Given the description of an element on the screen output the (x, y) to click on. 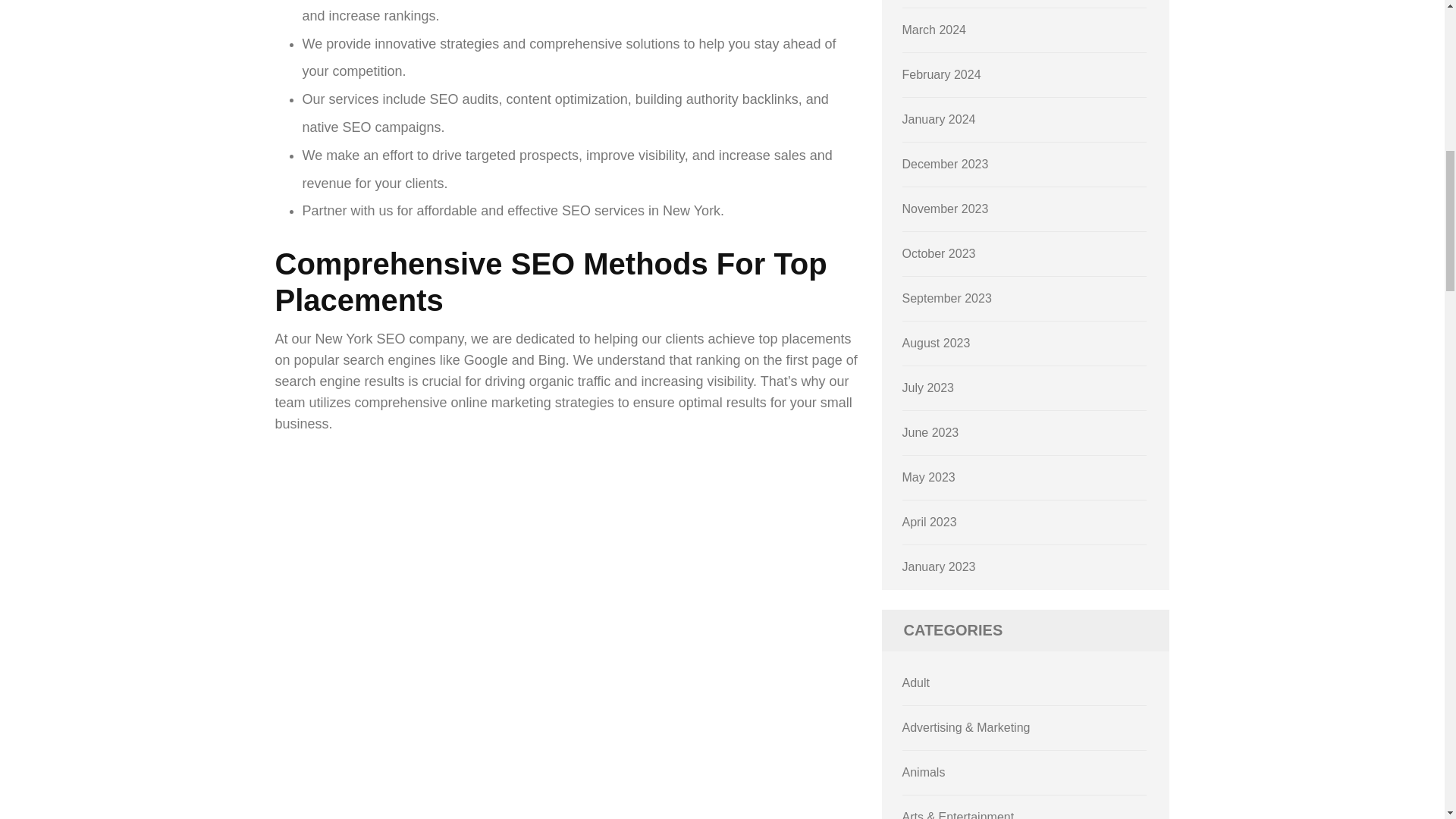
August 2023 (936, 342)
March 2024 (934, 29)
May 2023 (928, 477)
September 2023 (946, 297)
November 2023 (945, 208)
July 2023 (928, 387)
June 2023 (930, 431)
Adult (916, 682)
January 2024 (938, 119)
January 2023 (938, 566)
October 2023 (938, 253)
April 2023 (929, 521)
December 2023 (945, 164)
February 2024 (941, 74)
